Given the description of an element on the screen output the (x, y) to click on. 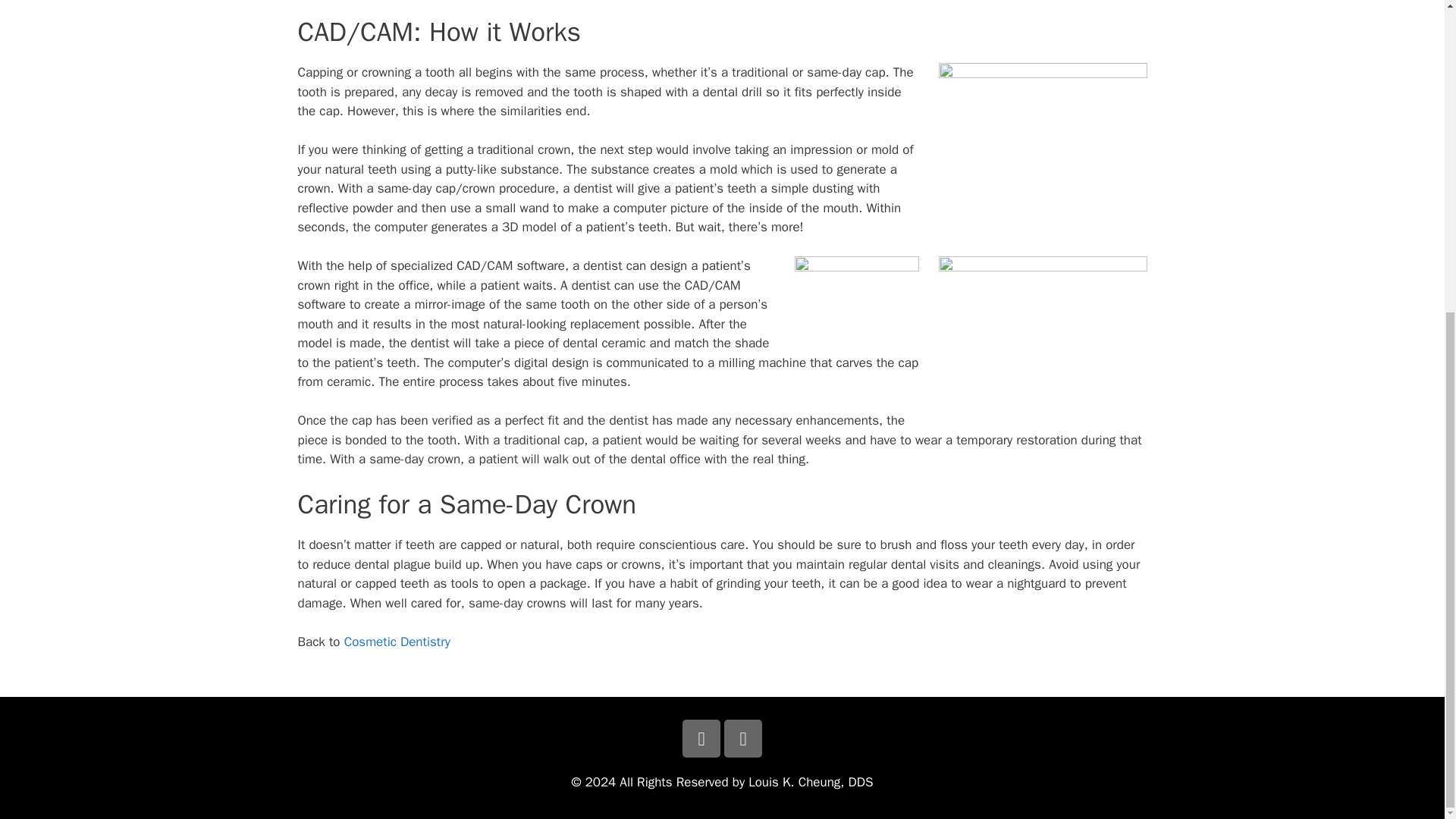
milling-machine (1043, 335)
scanning-wand (1043, 141)
Cosmetic Dentistry (396, 641)
crowns (856, 303)
